Given the description of an element on the screen output the (x, y) to click on. 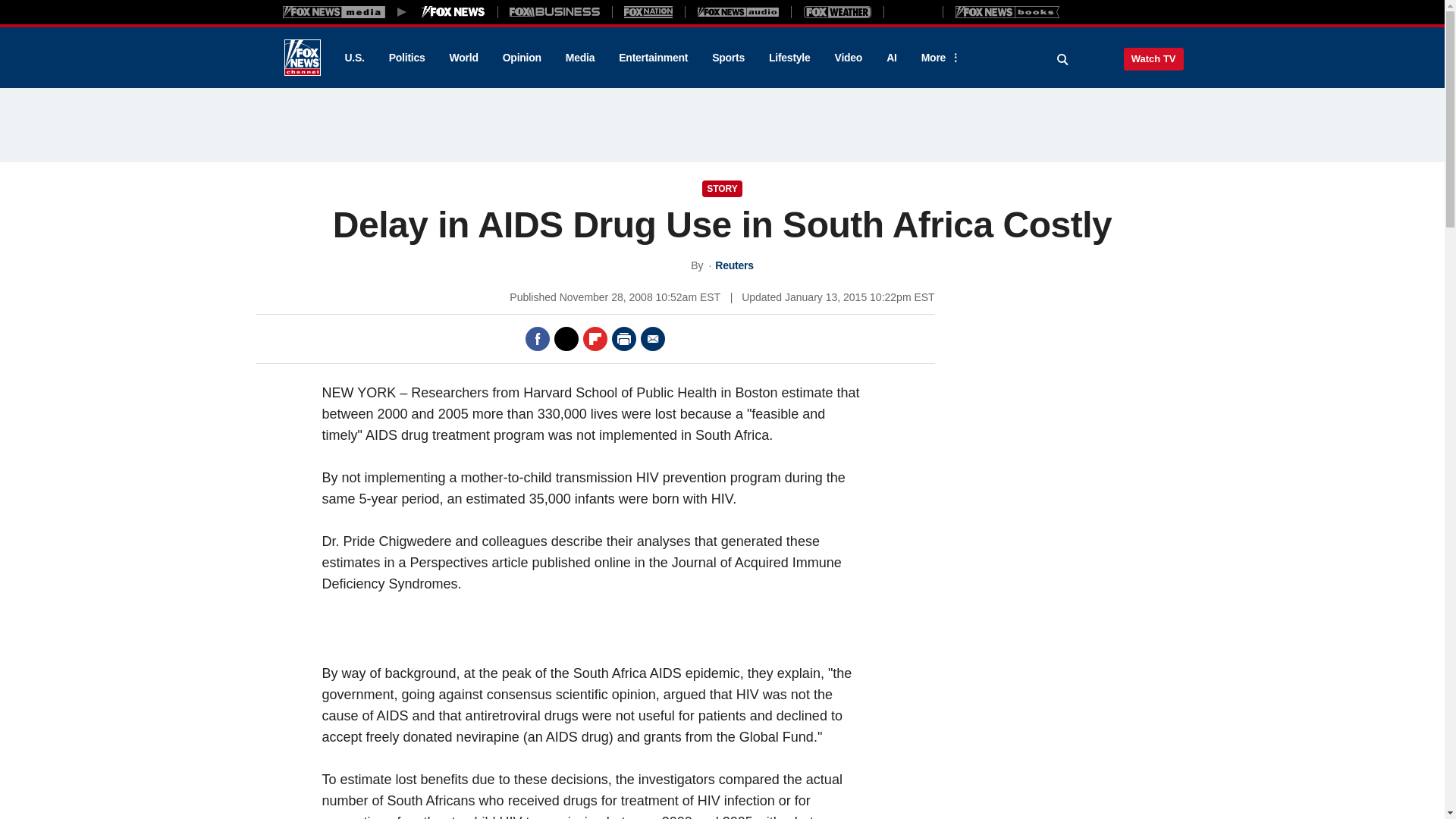
World (464, 57)
Fox News (301, 57)
Books (1007, 11)
Media (580, 57)
Opinion (521, 57)
Fox Nation (648, 11)
Sports (728, 57)
Outkick (912, 11)
Politics (407, 57)
AI (891, 57)
Fox News Media (453, 11)
More (938, 57)
Fox Business (554, 11)
Fox News Audio (737, 11)
U.S. (353, 57)
